Given the description of an element on the screen output the (x, y) to click on. 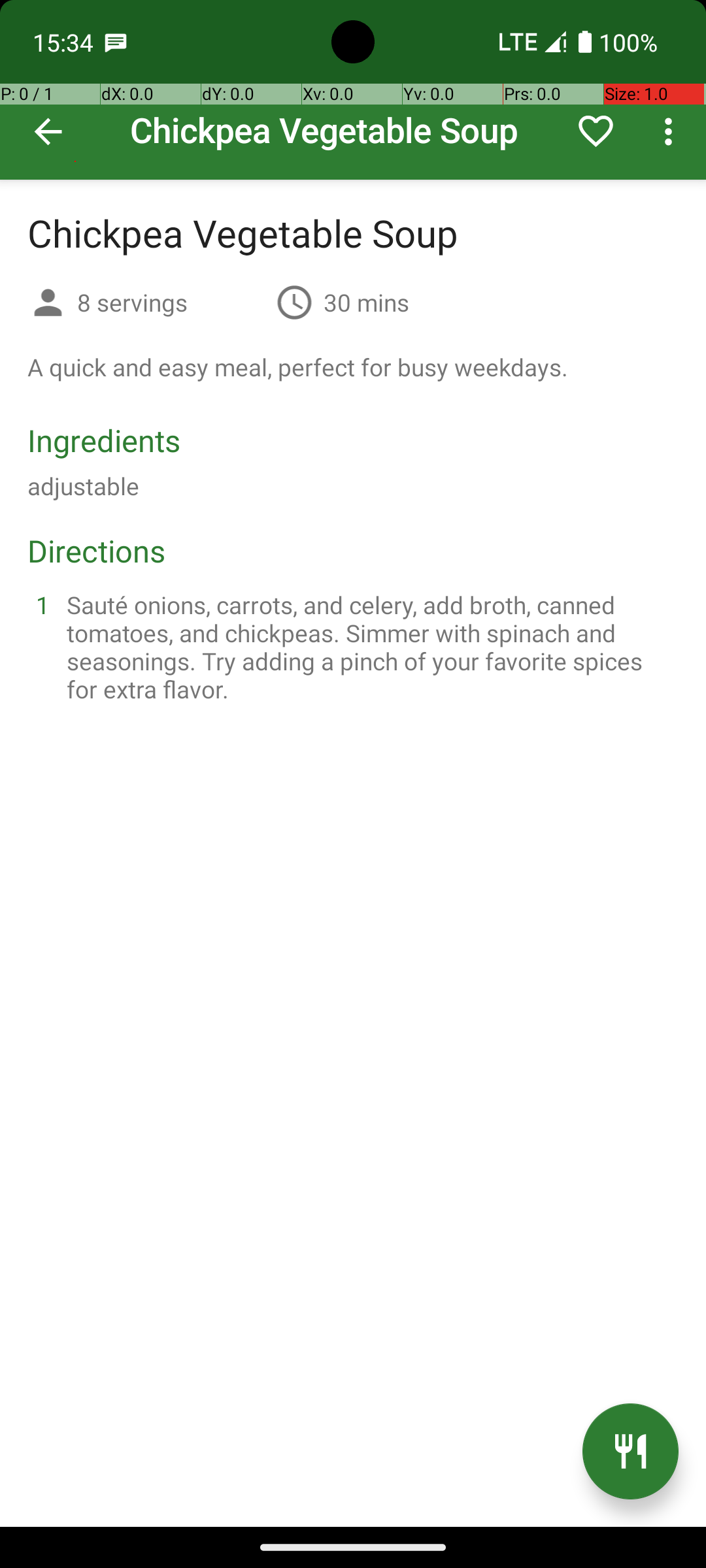
Sauté onions, carrots, and celery, add broth, canned tomatoes, and chickpeas. Simmer with spinach and seasonings. Try adding a pinch of your favorite spices for extra flavor. Element type: android.widget.TextView (368, 646)
